Given the description of an element on the screen output the (x, y) to click on. 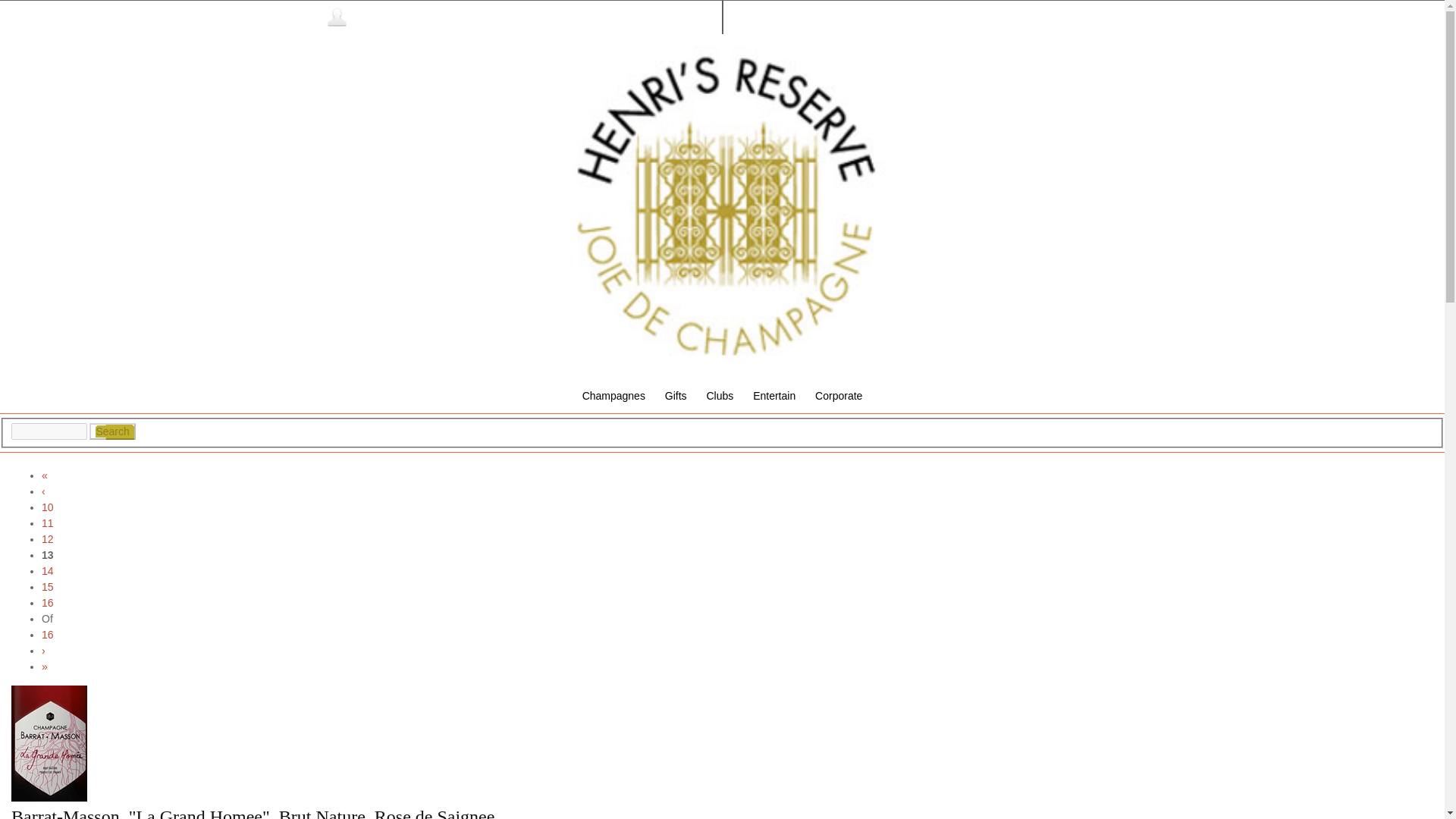
Members (361, 17)
11 (47, 522)
Clubs (719, 396)
10 (47, 507)
Corporate (838, 396)
12 (47, 539)
Search (111, 431)
16 (47, 603)
Champagnes (613, 396)
16 (47, 634)
Entertain (773, 396)
15 (47, 586)
Gifts (675, 396)
14 (47, 571)
